Given the description of an element on the screen output the (x, y) to click on. 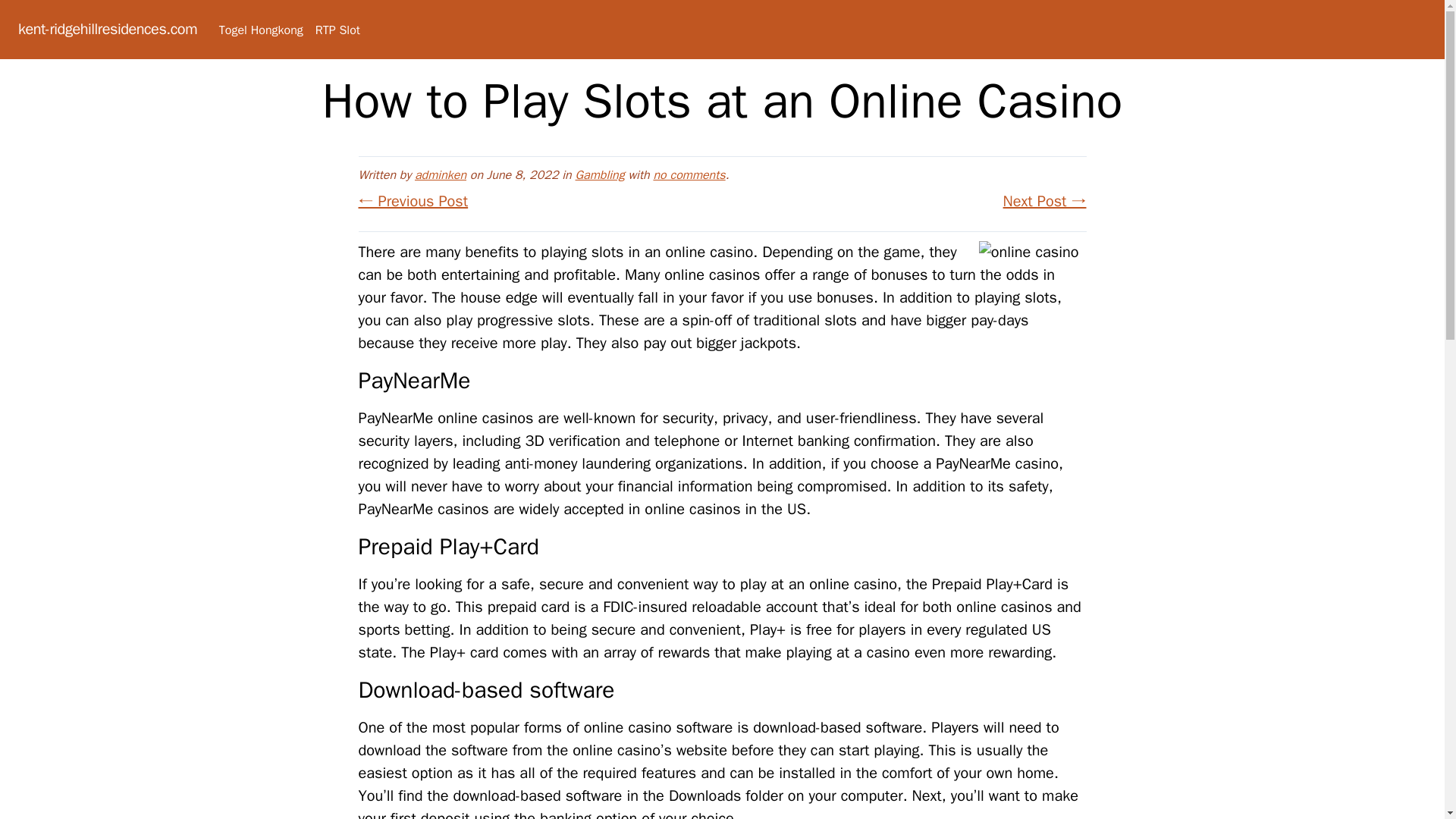
RTP Slot (337, 30)
kent-ridgehillresidences.com (106, 29)
adminken (439, 174)
no comments (688, 174)
Togel Hongkong (260, 30)
no comments (688, 174)
Gambling (599, 174)
